Given the description of an element on the screen output the (x, y) to click on. 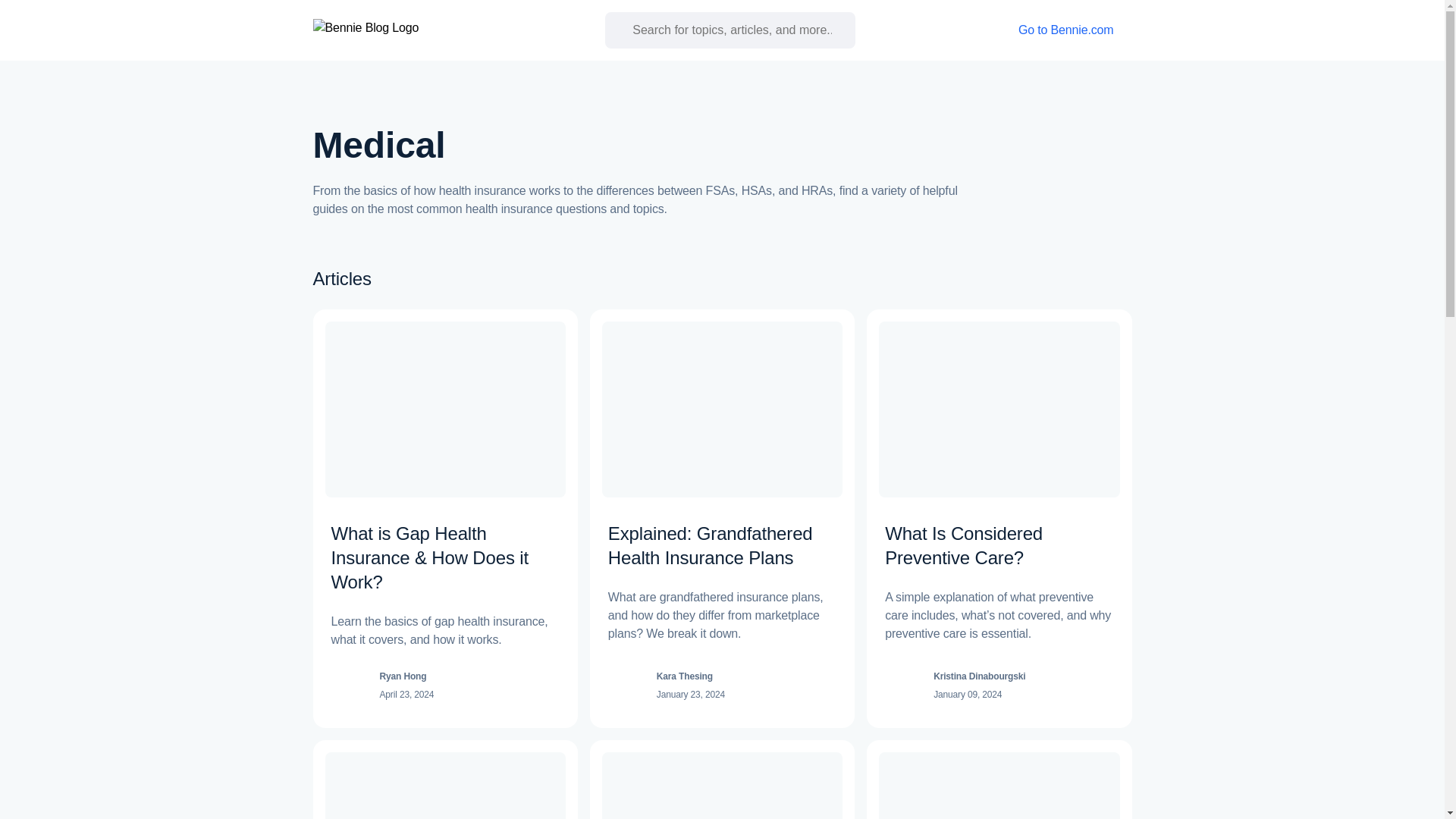
What Is Considered Preventive Care? (963, 545)
Explained: Grandfathered Health Insurance Plans (710, 545)
Bennie Blog (426, 29)
Bennie (351, 29)
Go to Bennie.com (1074, 30)
